Given the description of an element on the screen output the (x, y) to click on. 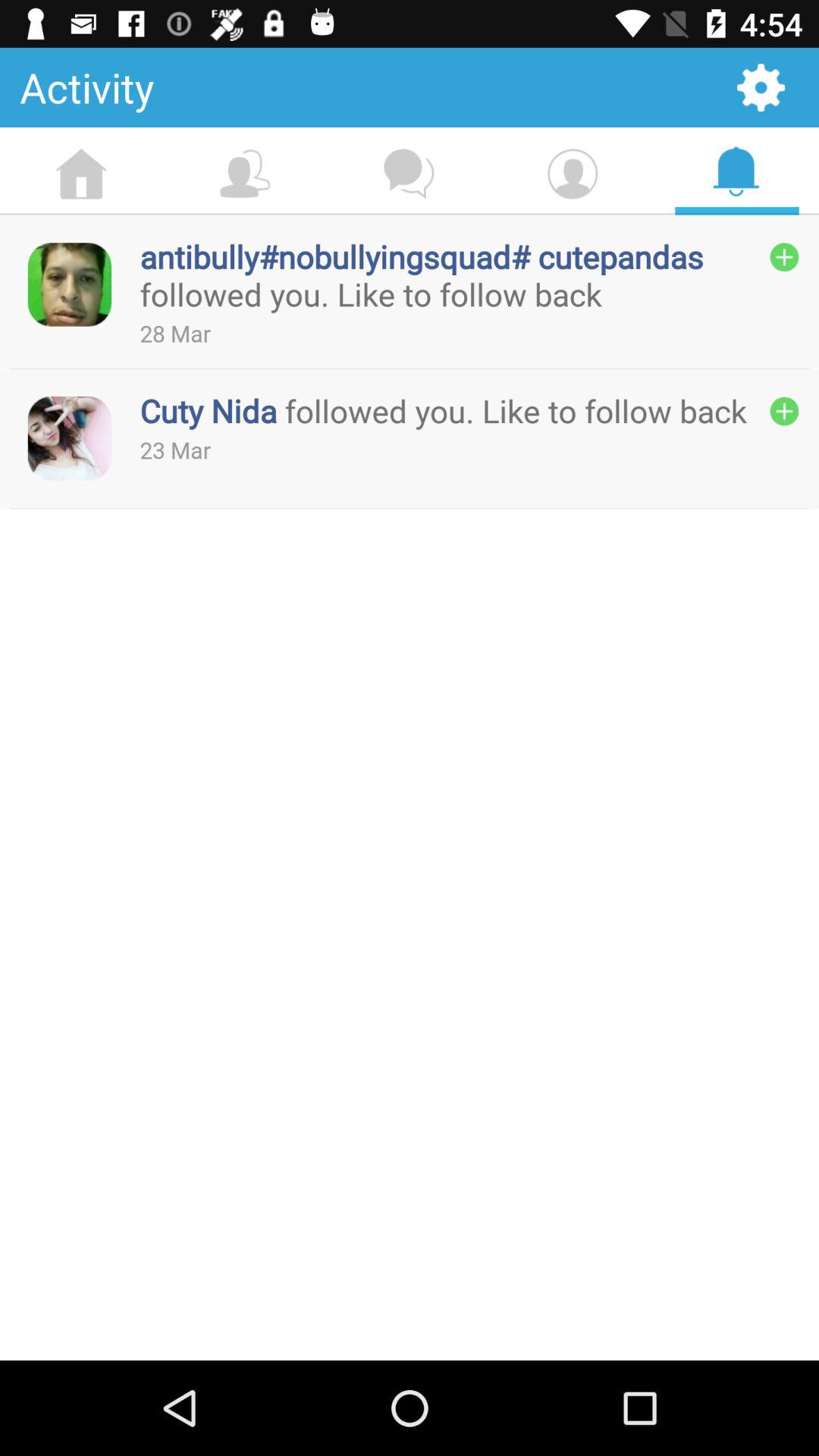
tap icon to the right of the activity item (760, 87)
